Given the description of an element on the screen output the (x, y) to click on. 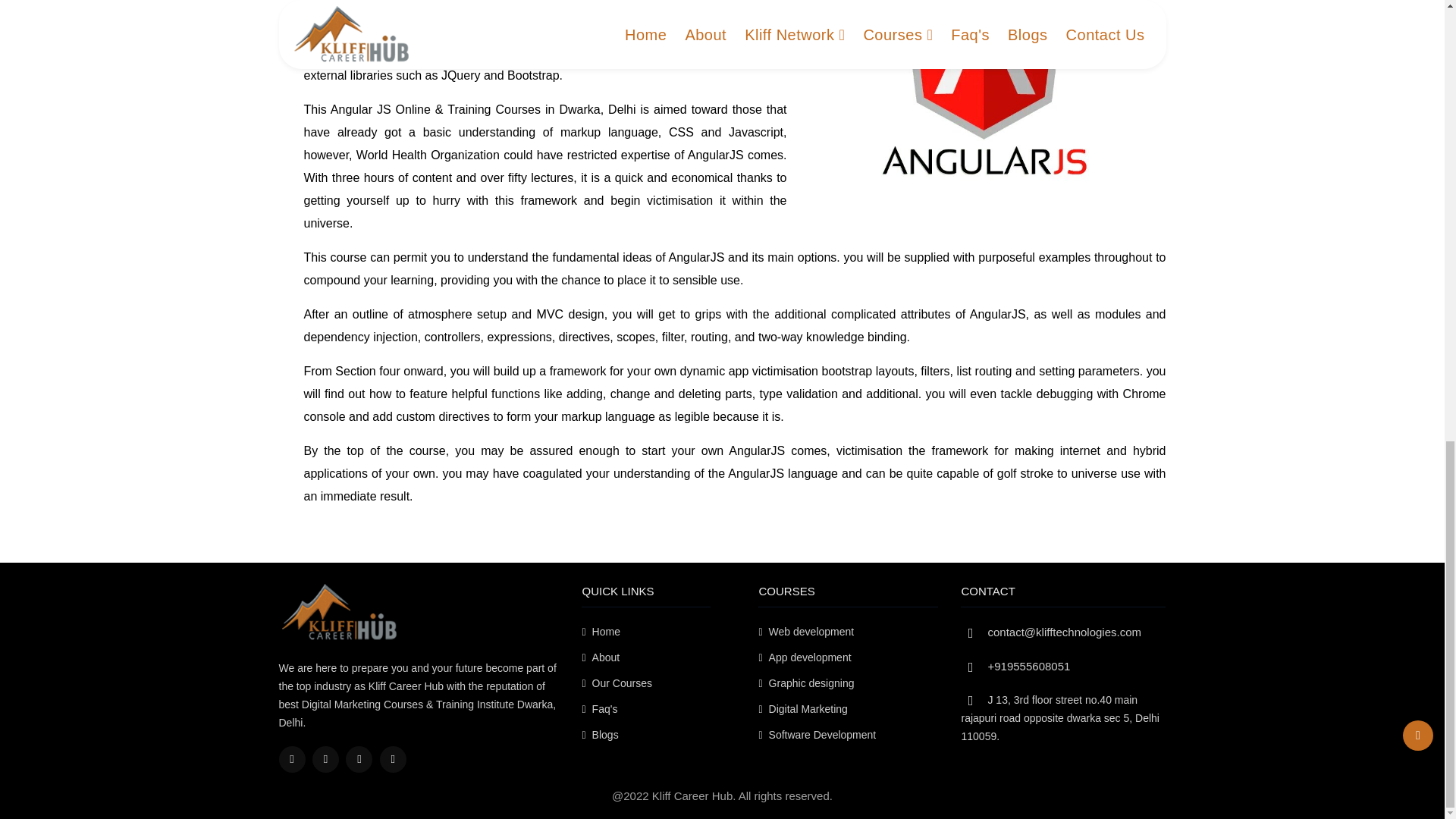
App development (847, 657)
Home (645, 631)
Graphic designing (847, 683)
Our Courses (645, 683)
Digital Marketing (847, 709)
Blogs (645, 734)
Faq's (645, 709)
Software Development (847, 734)
Web development (847, 631)
About (645, 657)
